Given the description of an element on the screen output the (x, y) to click on. 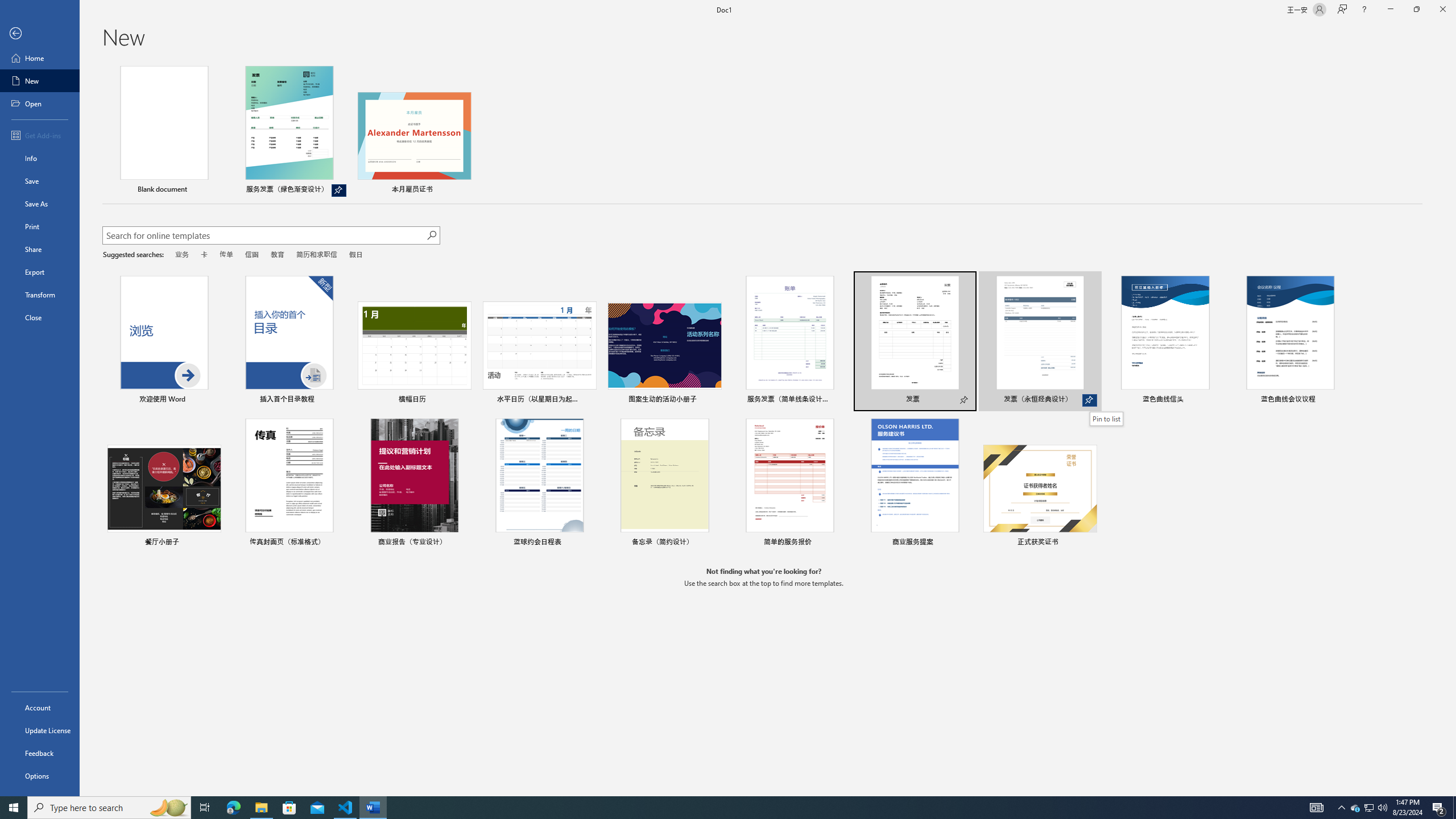
Restore Down (1416, 9)
Help (1364, 9)
Save (40, 180)
Blank document (164, 131)
Save As (40, 203)
Pin to list (1105, 418)
New (40, 80)
Info (40, 157)
Close (40, 317)
